Given the description of an element on the screen output the (x, y) to click on. 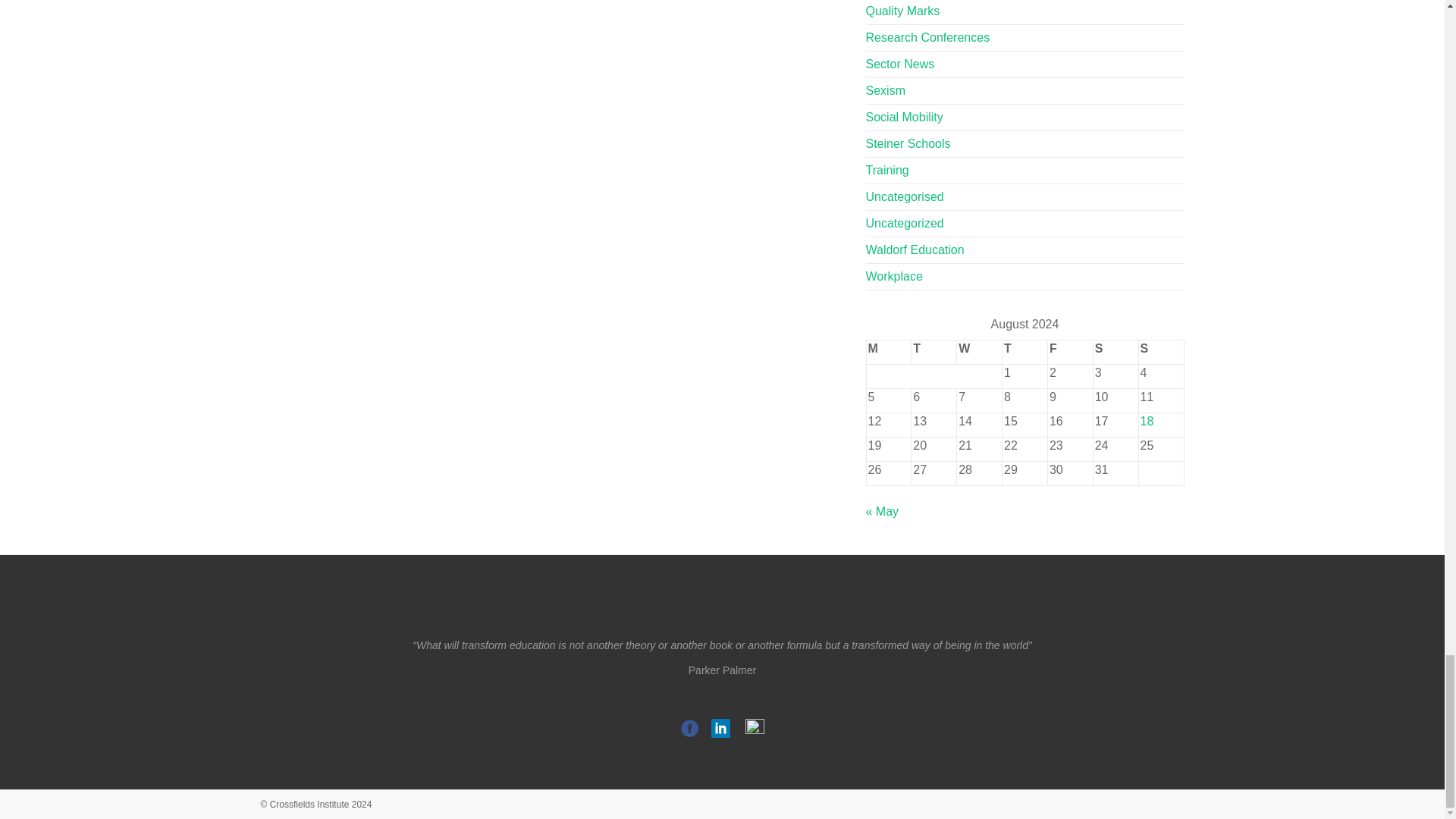
Monday (888, 352)
Saturday (1115, 352)
Friday (1069, 352)
Thursday (1025, 352)
Wednesday (979, 352)
Tuesday (933, 352)
Sunday (1160, 352)
